Given the description of an element on the screen output the (x, y) to click on. 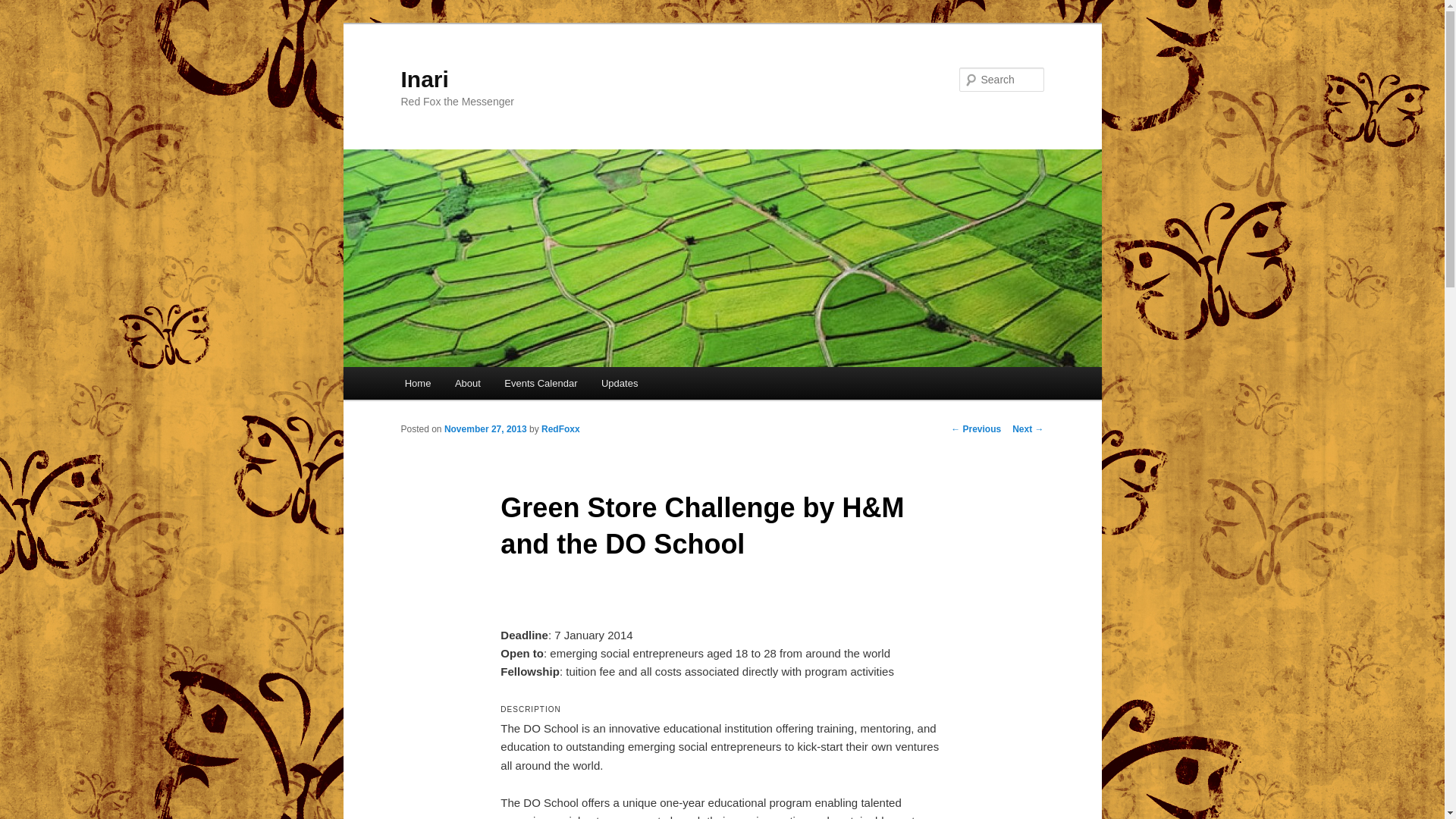
RedFoxx (560, 429)
9:50 PM (485, 429)
View all posts by RedFoxx (560, 429)
About (467, 382)
Search (24, 8)
Inari (424, 78)
Updates (619, 382)
Events Calendar (541, 382)
Home (417, 382)
